Given the description of an element on the screen output the (x, y) to click on. 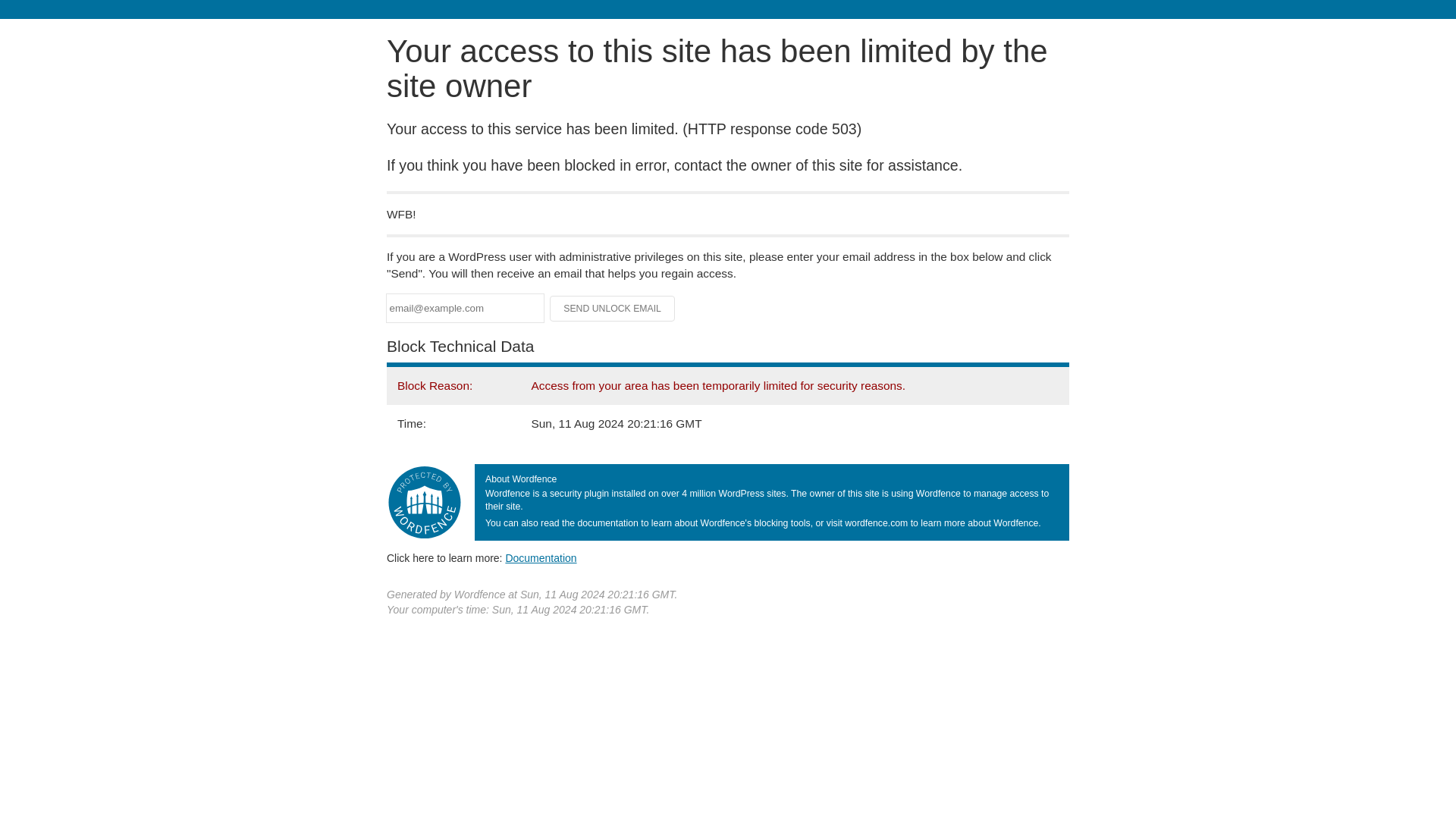
Documentation (540, 558)
Send Unlock Email (612, 308)
Send Unlock Email (612, 308)
